Given the description of an element on the screen output the (x, y) to click on. 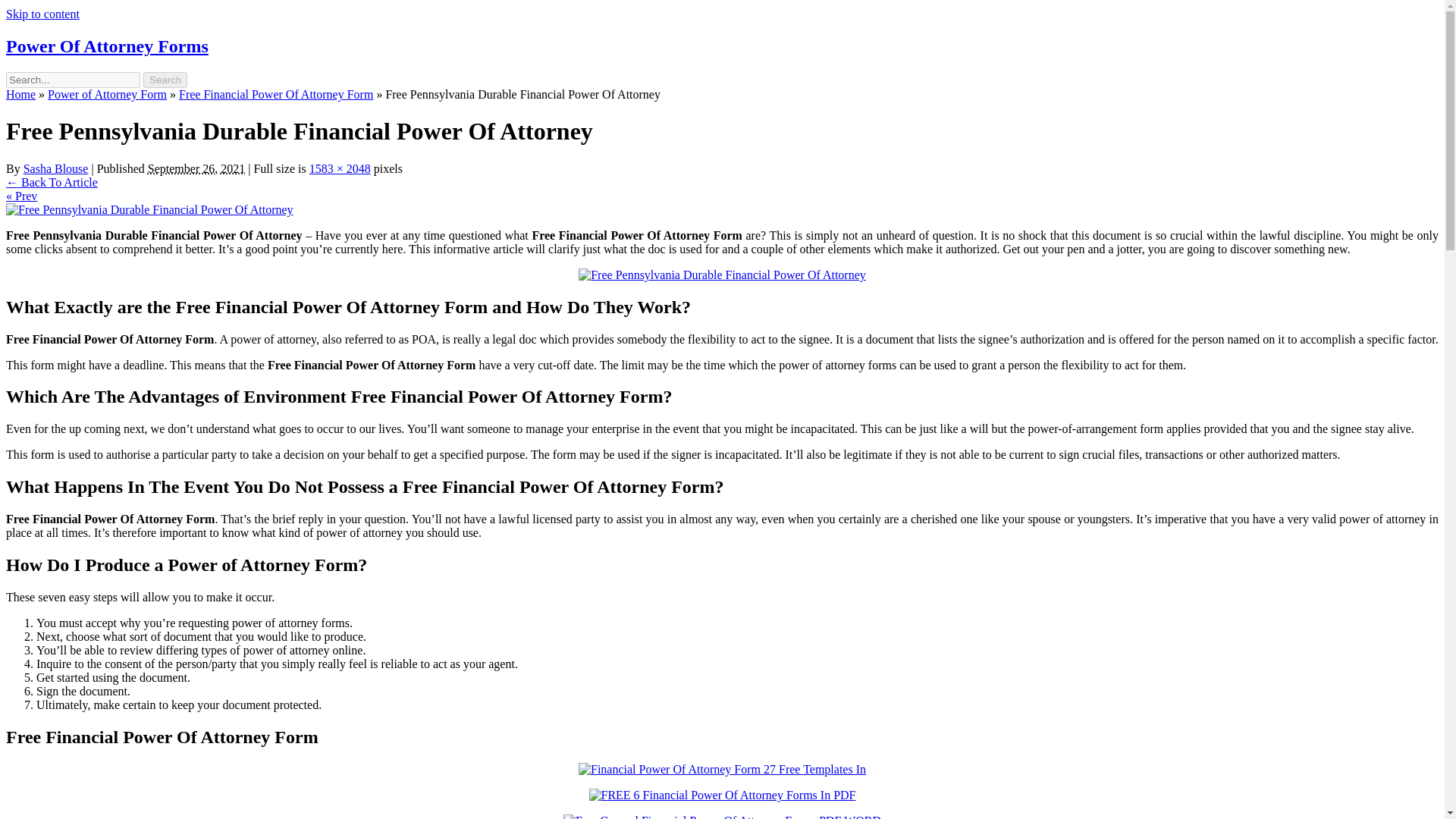
Sasha Blouse (55, 168)
Search for: (72, 79)
Power Of Attorney Forms (106, 46)
Power of Attorney Form (107, 93)
Free Financial Power Of Attorney Form (275, 93)
free 6 financial power of attorney forms in pdf 2 (722, 795)
10:43 pm (196, 168)
Free Pennsylvania Durable Financial Power Of Attorney (149, 209)
free general financial power of attorney forms pdf word 1 (721, 816)
Return to Free Financial Power Of Attorney Form (51, 182)
financial power of attorney form 27 free templates in (722, 769)
Skip to content (42, 13)
Home (19, 93)
View all posts by Sasha Blouse (55, 168)
Link to full-size image (339, 168)
